Given the description of an element on the screen output the (x, y) to click on. 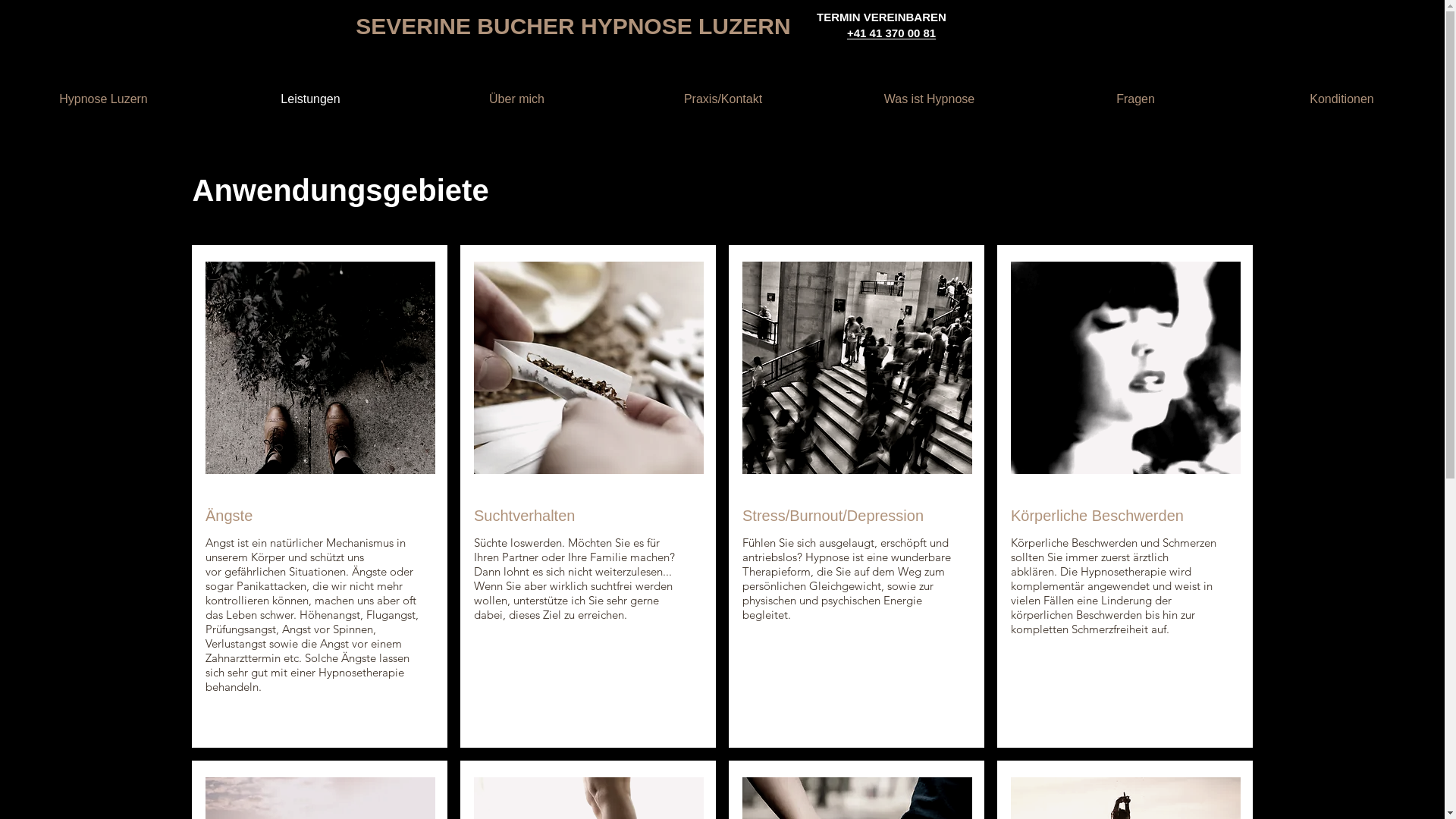
Praxis/Kontakt Element type: text (722, 99)
+41 41 370 00 81 Element type: text (891, 32)
Was ist Hypnose Element type: text (928, 99)
TERMIN VEREINBAREN Element type: text (881, 16)
Fragen Element type: text (1135, 99)
Konditionen Element type: text (1341, 99)
Leistungen Element type: text (310, 99)
Hypnose Luzern Element type: text (103, 99)
